Given the description of an element on the screen output the (x, y) to click on. 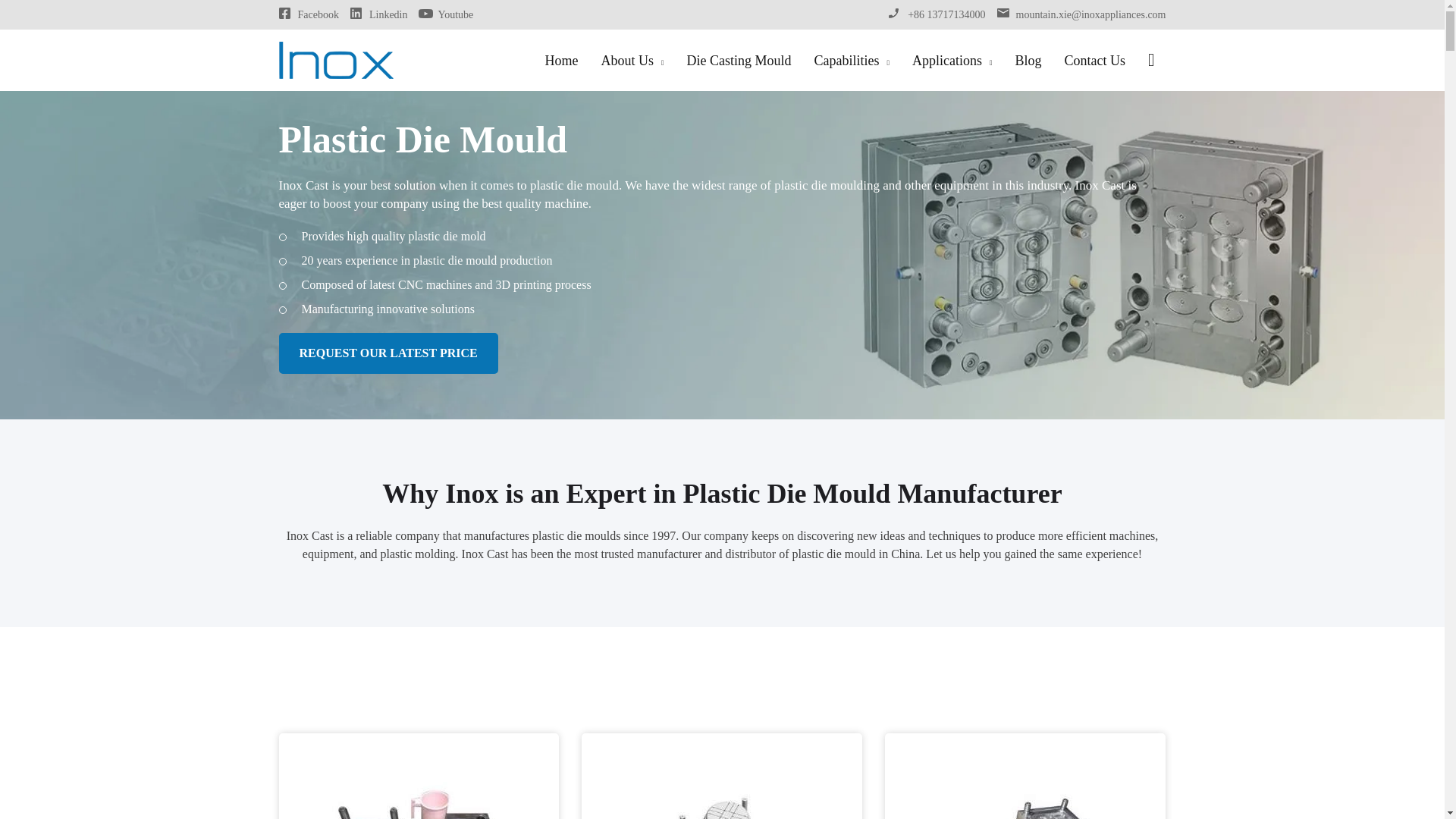
Facebook (317, 14)
Youtube (455, 14)
About Us (632, 59)
Linkedin (388, 14)
Capabilities (851, 59)
Home (560, 59)
Die Casting Mould (738, 59)
